Given the description of an element on the screen output the (x, y) to click on. 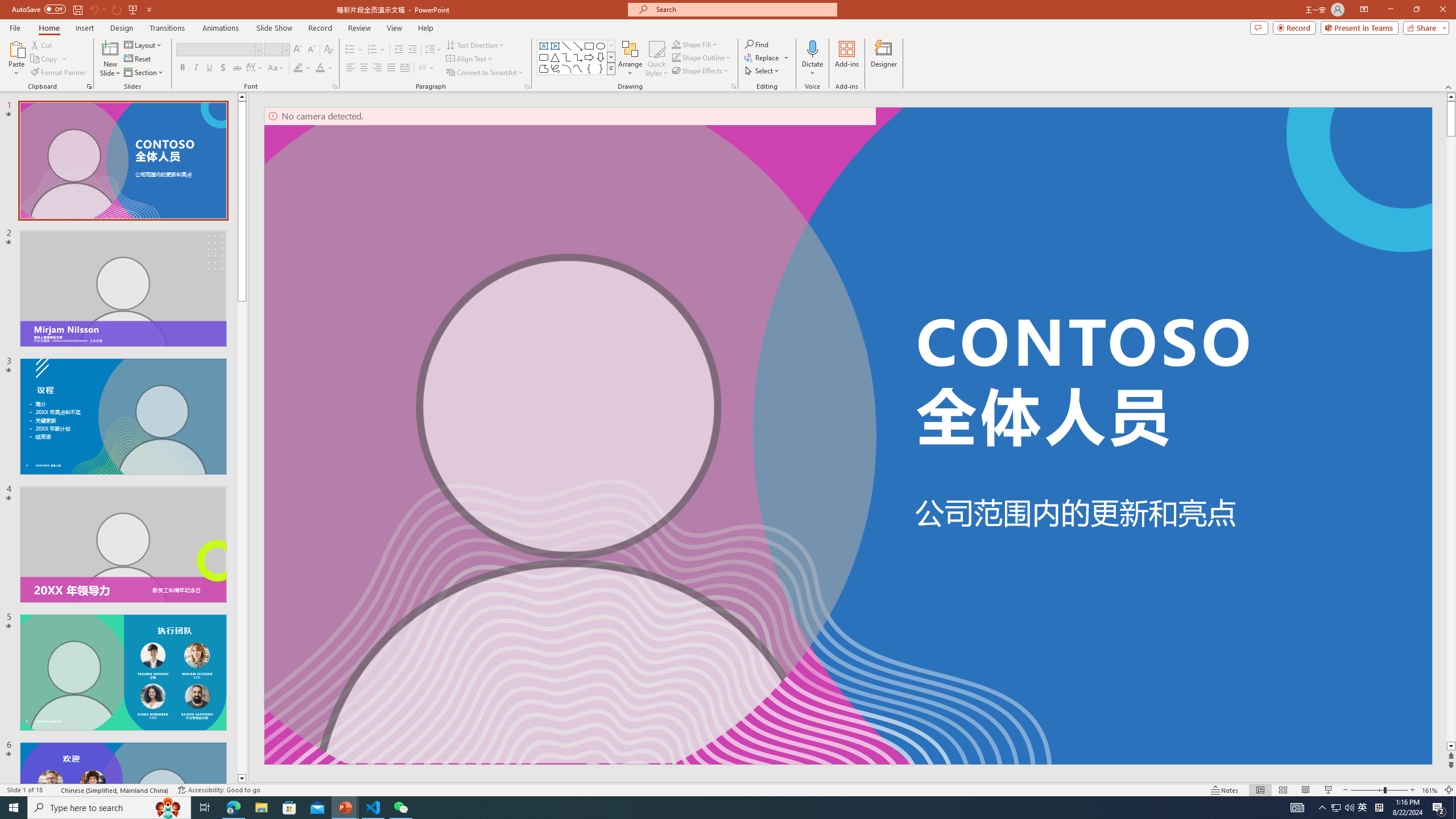
Zoom 161% (1430, 790)
